Given the description of an element on the screen output the (x, y) to click on. 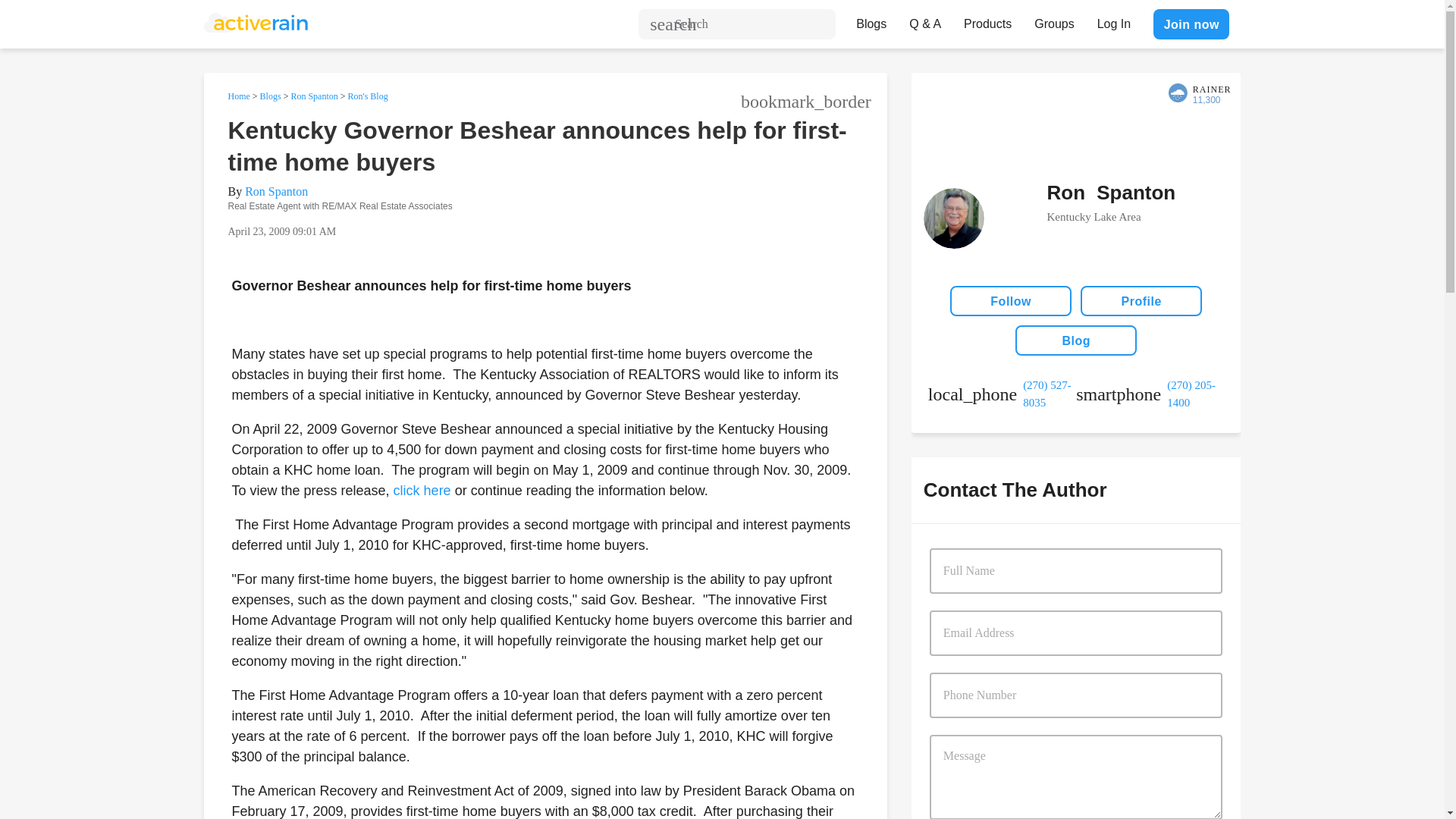
Products (986, 19)
Ron Spanton (275, 191)
Home (237, 95)
Blogs (270, 95)
cell (1149, 393)
work (1001, 393)
Ron's Blog (367, 95)
click here (422, 490)
Groups (1053, 19)
Blogs (870, 19)
Log In (1113, 19)
Join now (1190, 24)
Ron Spanton (313, 95)
